Given the description of an element on the screen output the (x, y) to click on. 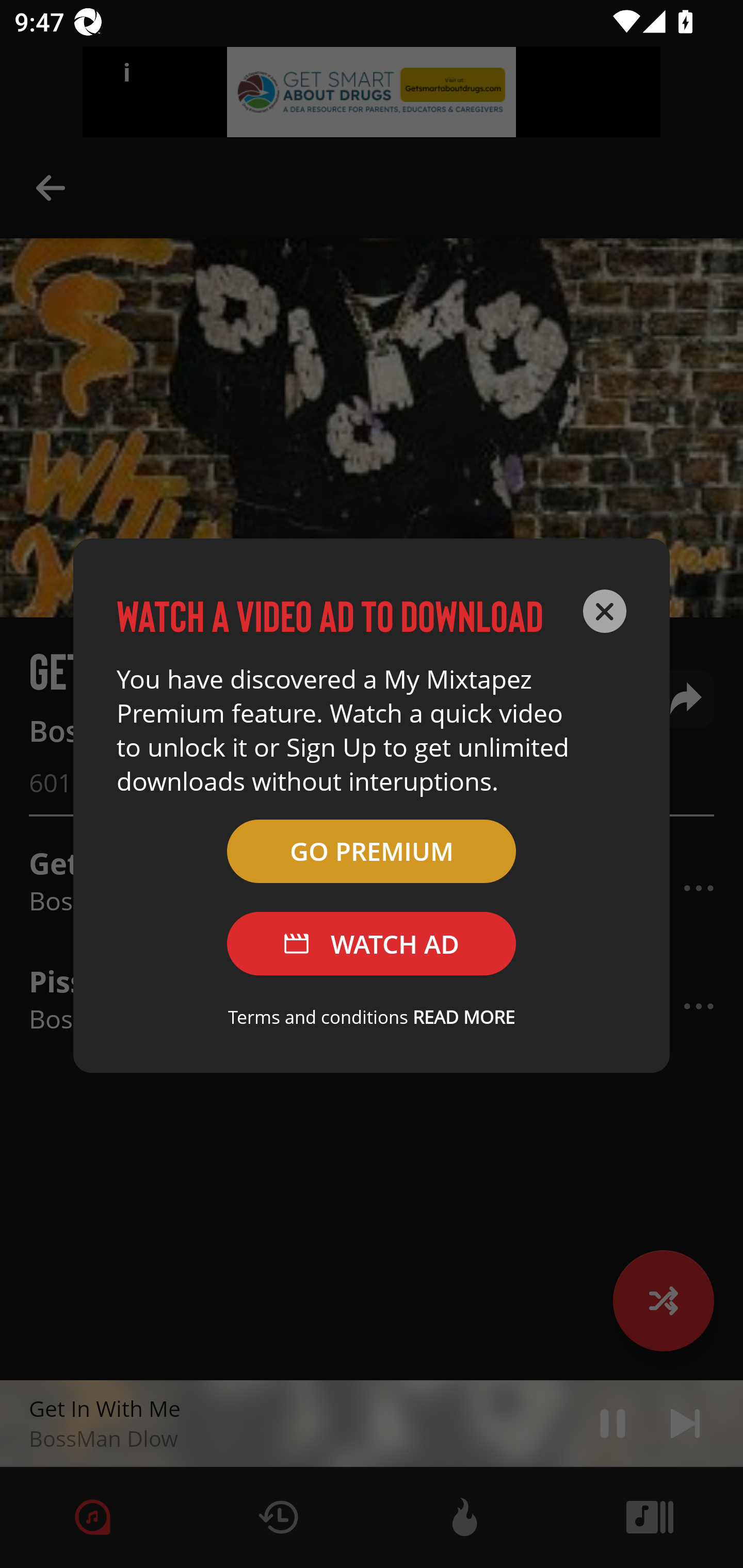
GO PREMIUM (371, 851)
WATCH AD (371, 943)
Terms and conditions READ MORE (371, 1016)
